Given the description of an element on the screen output the (x, y) to click on. 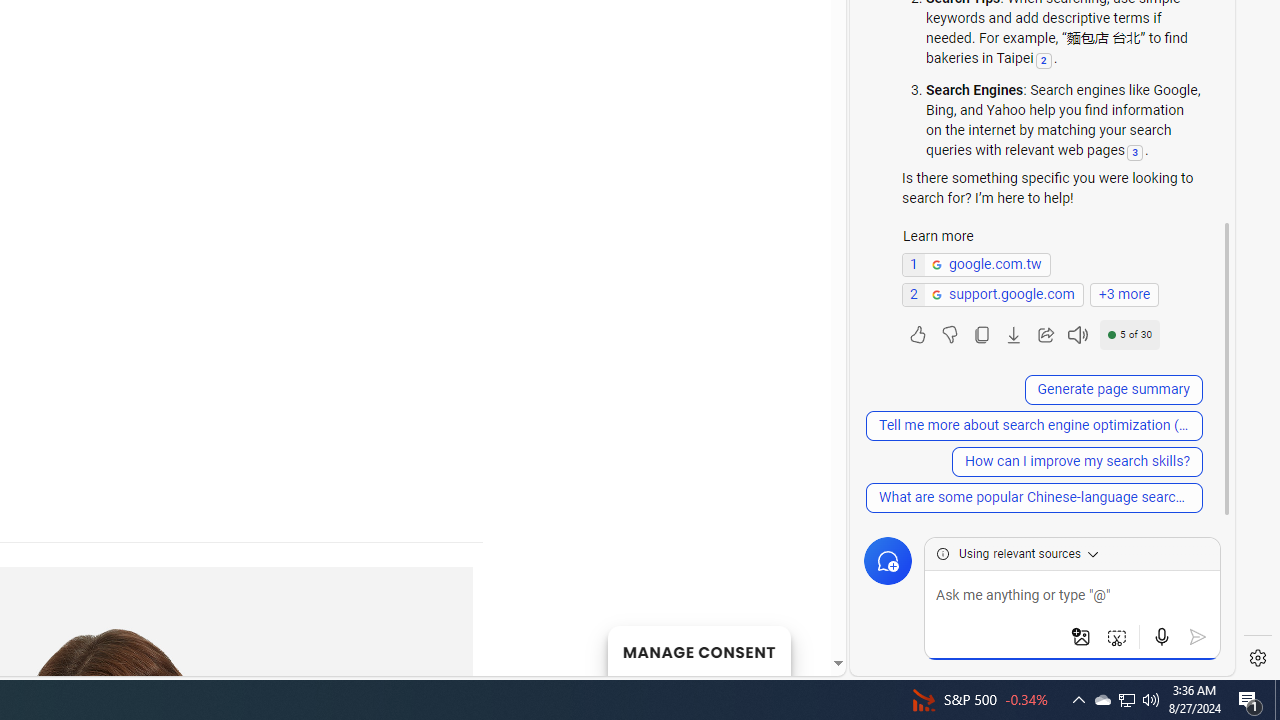
MANAGE CONSENT (698, 650)
